Given the description of an element on the screen output the (x, y) to click on. 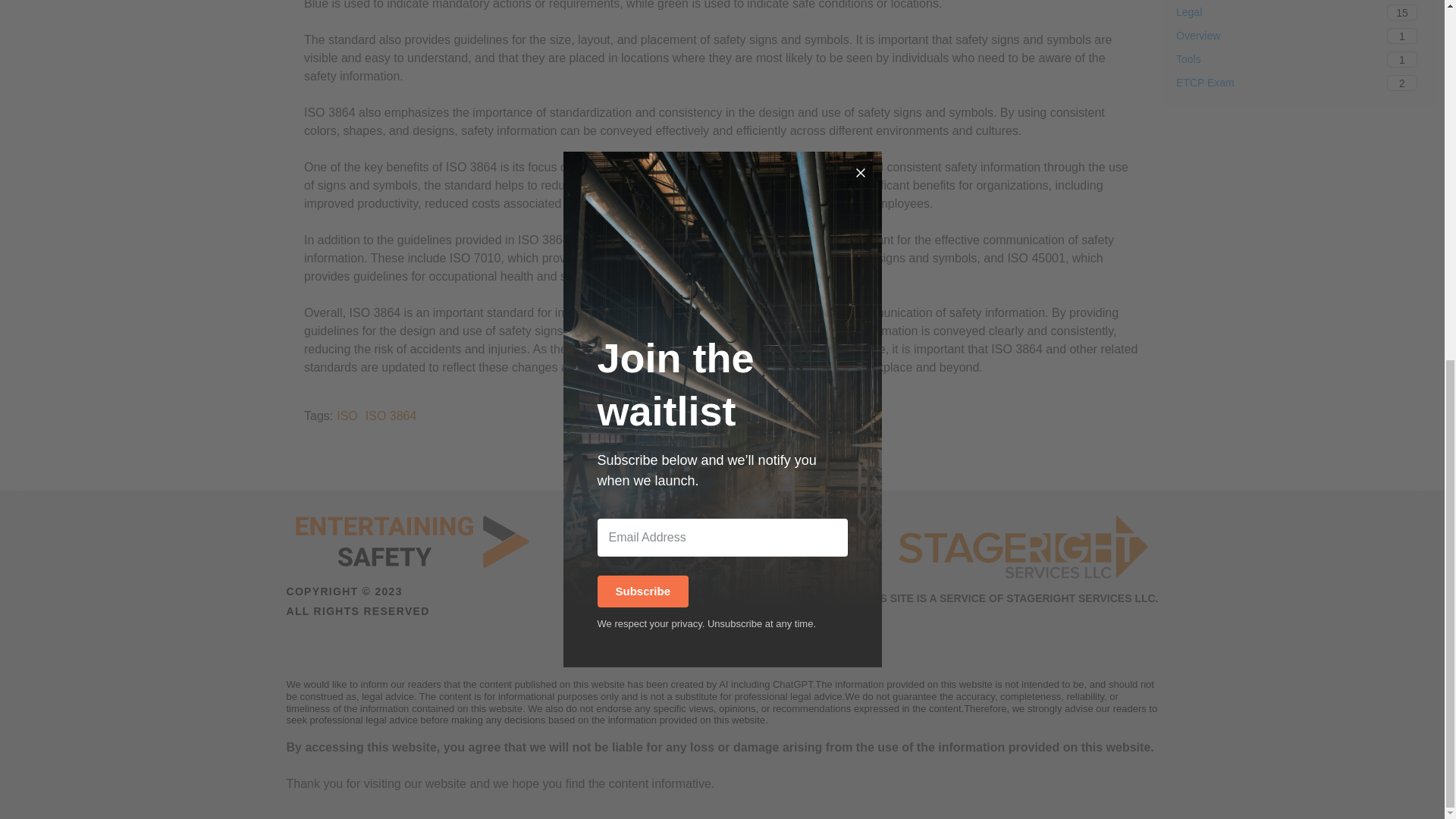
ISO 3864 (1299, 35)
ISO (390, 415)
